Given the description of an element on the screen output the (x, y) to click on. 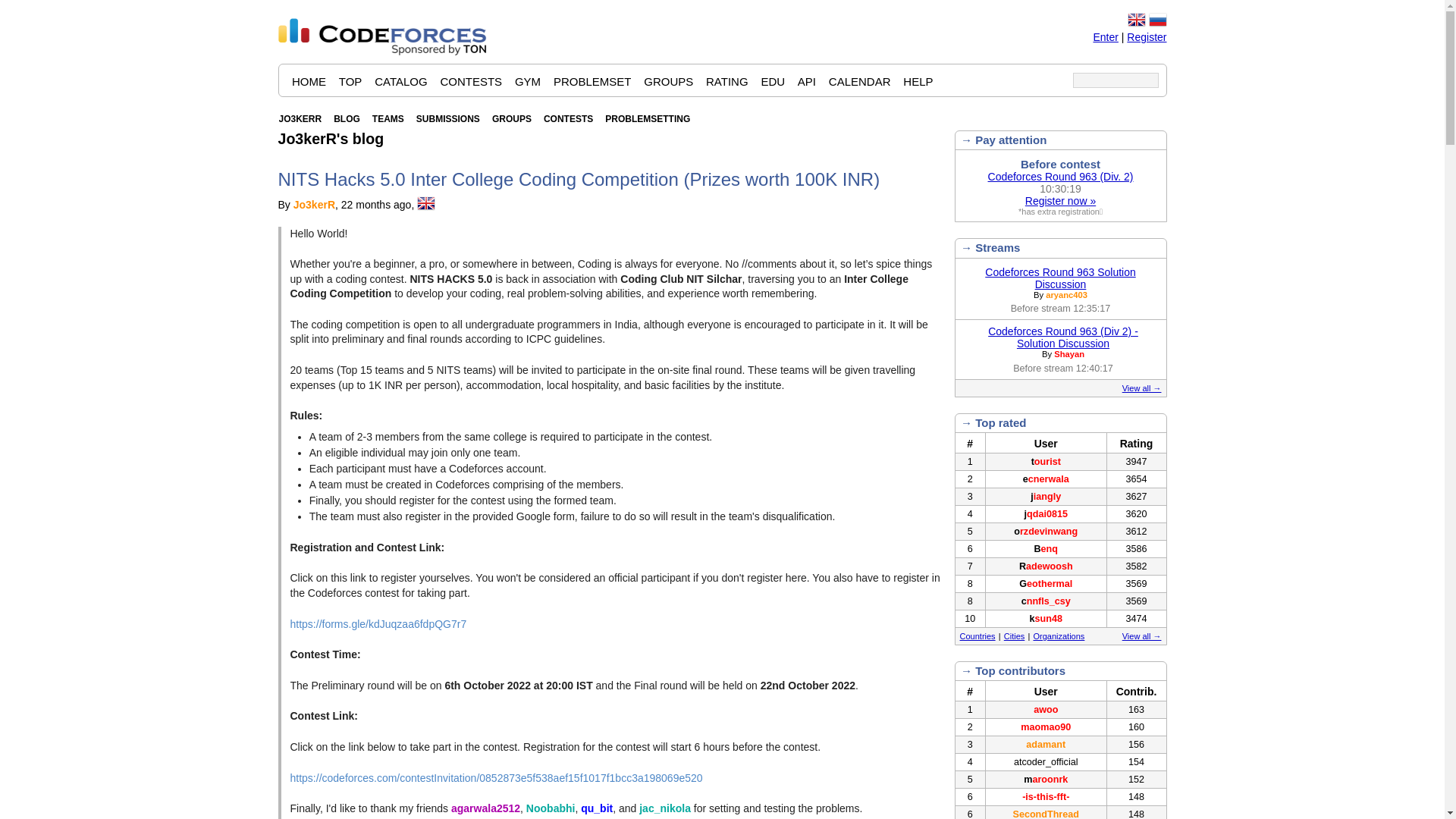
aryanc403 (1066, 293)
Register (1146, 36)
Legendary Grandmaster ecnerwala (1045, 479)
GYM (527, 79)
Legendary Grandmaster Geothermal (1045, 583)
Legendary Grandmaster Radewoosh (1046, 566)
RATING (727, 79)
jqdai0815 (1046, 513)
awoo (1045, 709)
PROBLEMSET (592, 79)
Legendary Grandmaster tourist (1045, 461)
Benq (1045, 548)
maomao90 (1045, 726)
API (806, 79)
CALENDAR (859, 79)
